Given the description of an element on the screen output the (x, y) to click on. 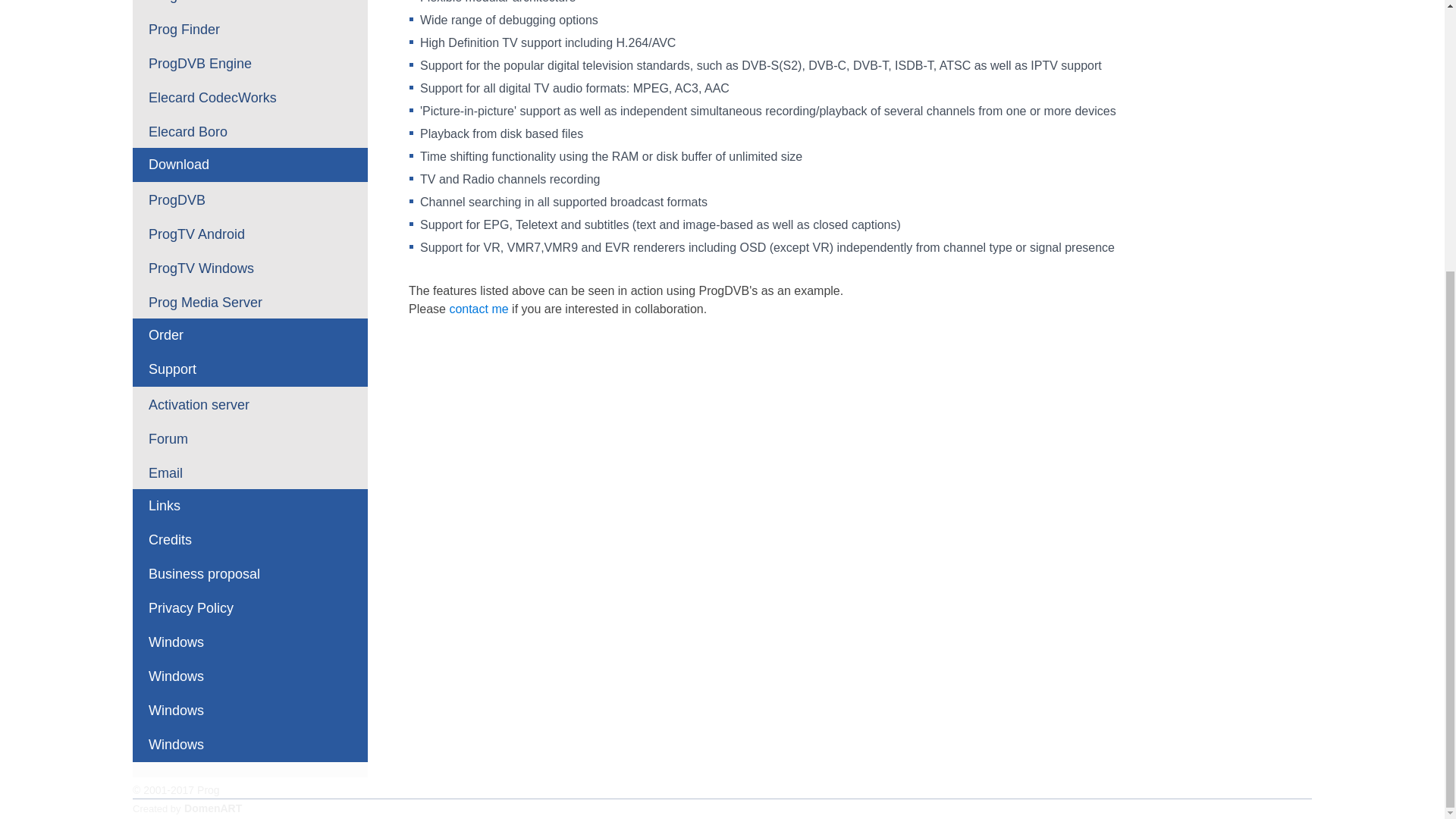
ProgTV Android (250, 233)
Support (250, 369)
Business proposal (250, 574)
Elecard CodecWorks (250, 96)
Prog Finder (250, 28)
ProgTV Windows (250, 267)
Forum (250, 437)
Windows (250, 642)
Privacy Policy (250, 608)
ProgDVB Engine (250, 62)
ProgDVB (250, 198)
Credits (250, 540)
Download (250, 164)
Email (250, 471)
Elecard Boro (250, 130)
